Given the description of an element on the screen output the (x, y) to click on. 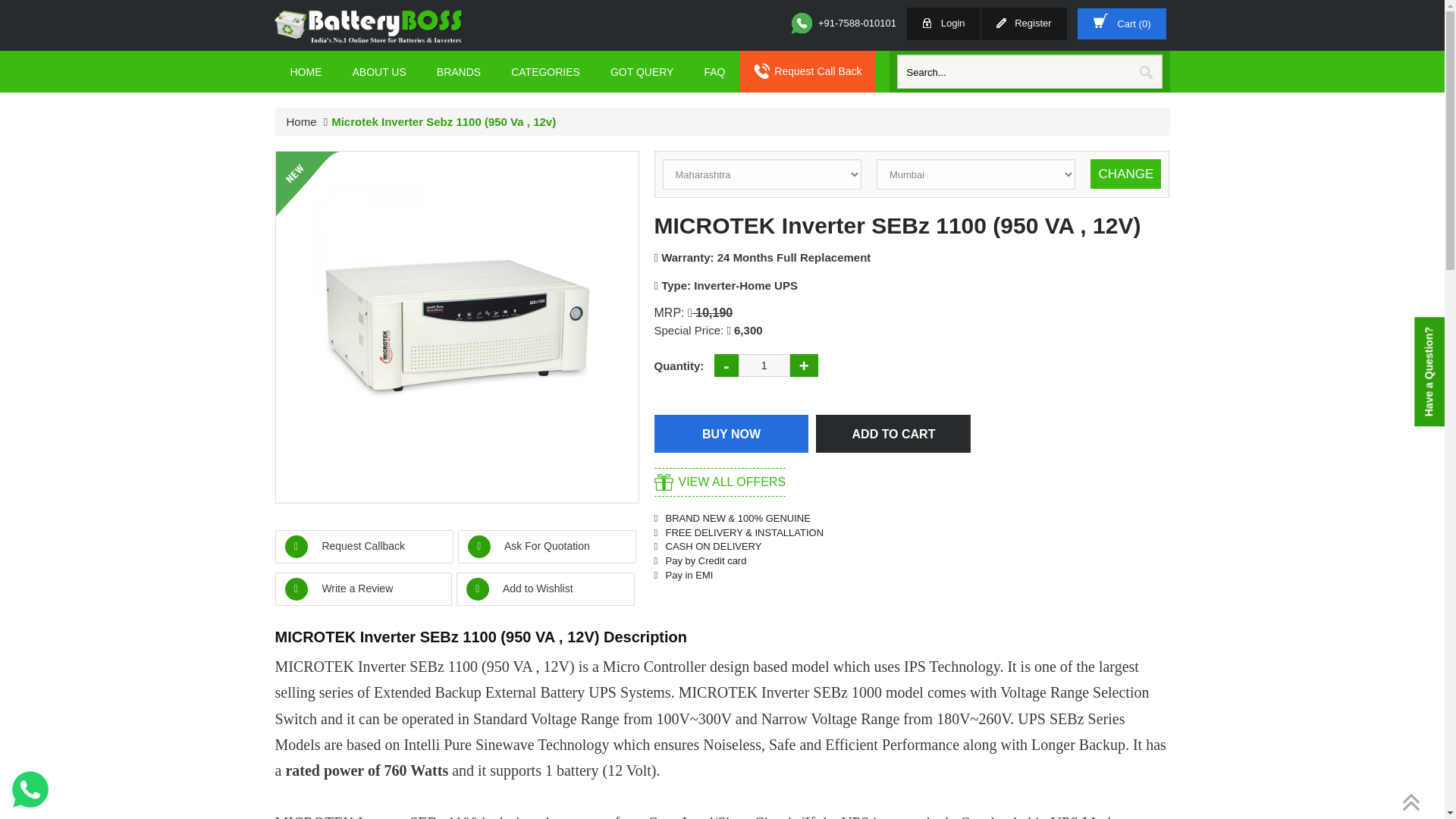
HOME (305, 71)
ABOUT US (378, 71)
ADD TO CART (893, 433)
BUY NOW (730, 433)
BRANDS (459, 71)
Register (1024, 23)
1 (764, 364)
Login (943, 23)
Change (1125, 173)
